Given the description of an element on the screen output the (x, y) to click on. 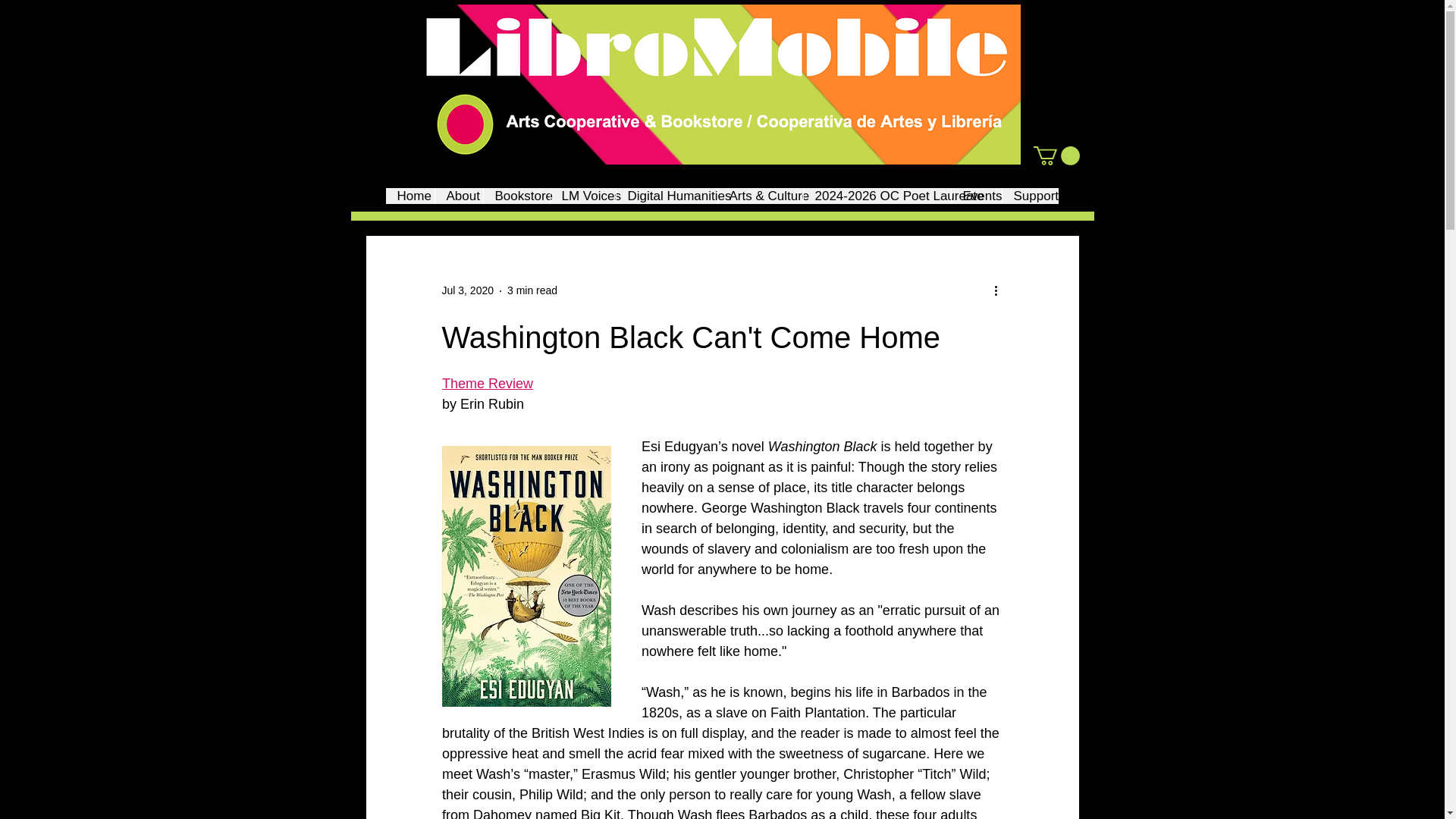
3 min read (531, 290)
Digital Humanities (666, 195)
Home (409, 195)
Jul 3, 2020 (467, 290)
Support (1029, 195)
Events (975, 195)
Established in 2016 (721, 84)
Theme Review (486, 383)
LM Voices (581, 195)
2024-2026 OC Poet Laureate (876, 195)
